Given the description of an element on the screen output the (x, y) to click on. 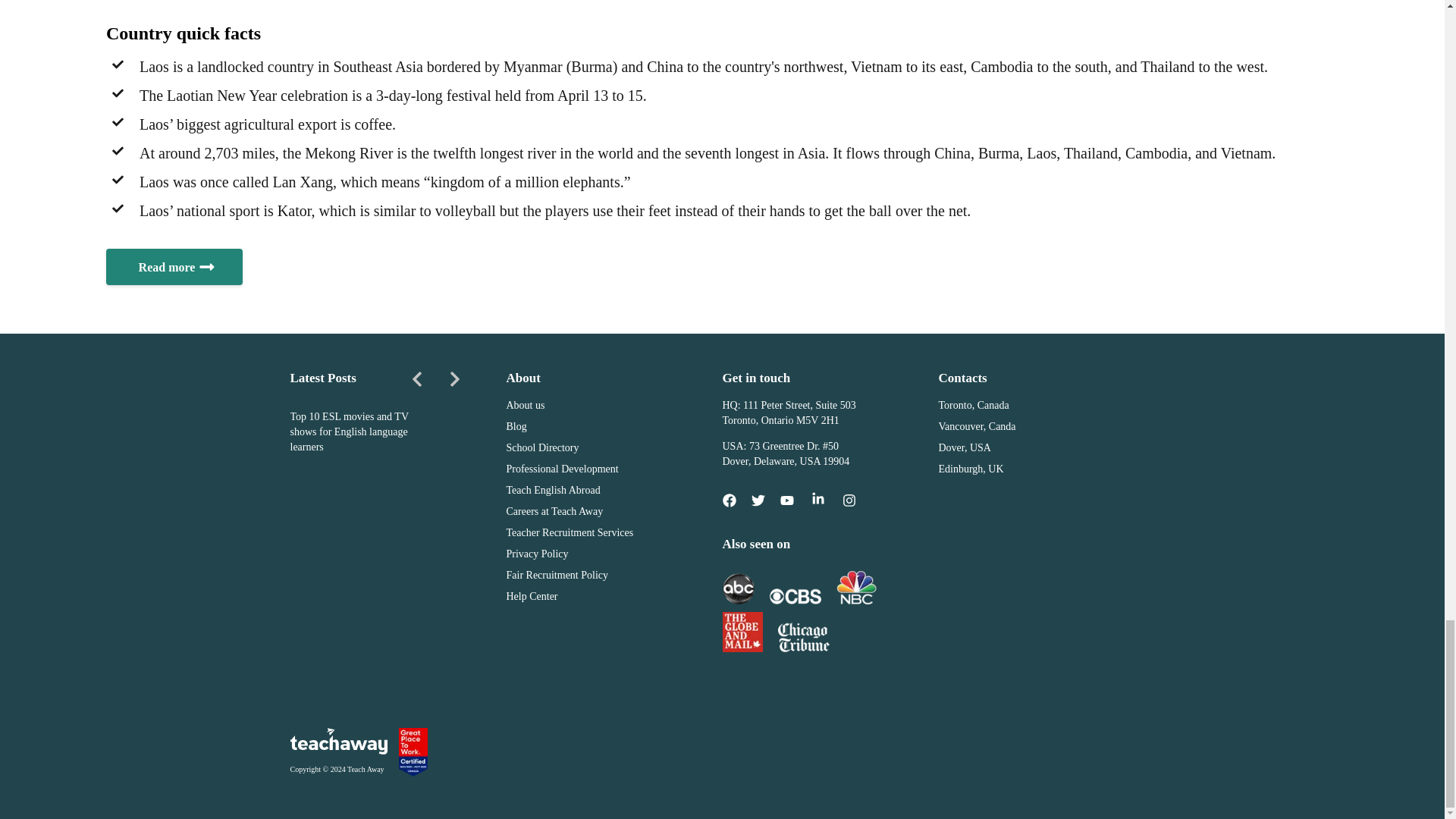
Checkmark Small Icon (117, 179)
Checkmark Small Icon (117, 121)
Checkmark Small Icon (117, 150)
Checkmark Small Icon (117, 208)
Checkmark Small Icon (117, 92)
Checkmark Small Icon (117, 64)
